Given the description of an element on the screen output the (x, y) to click on. 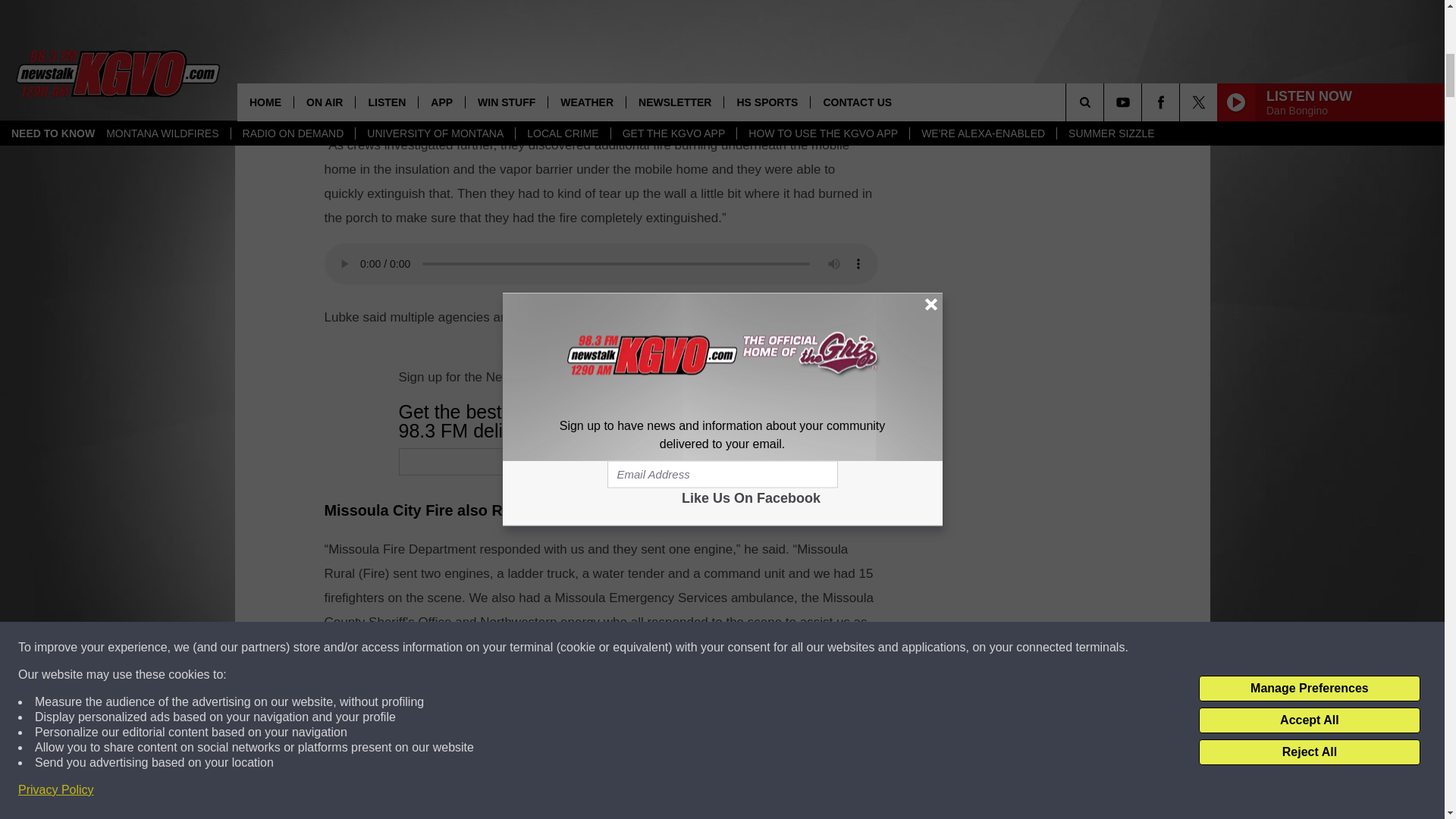
Email Address (669, 461)
